Given the description of an element on the screen output the (x, y) to click on. 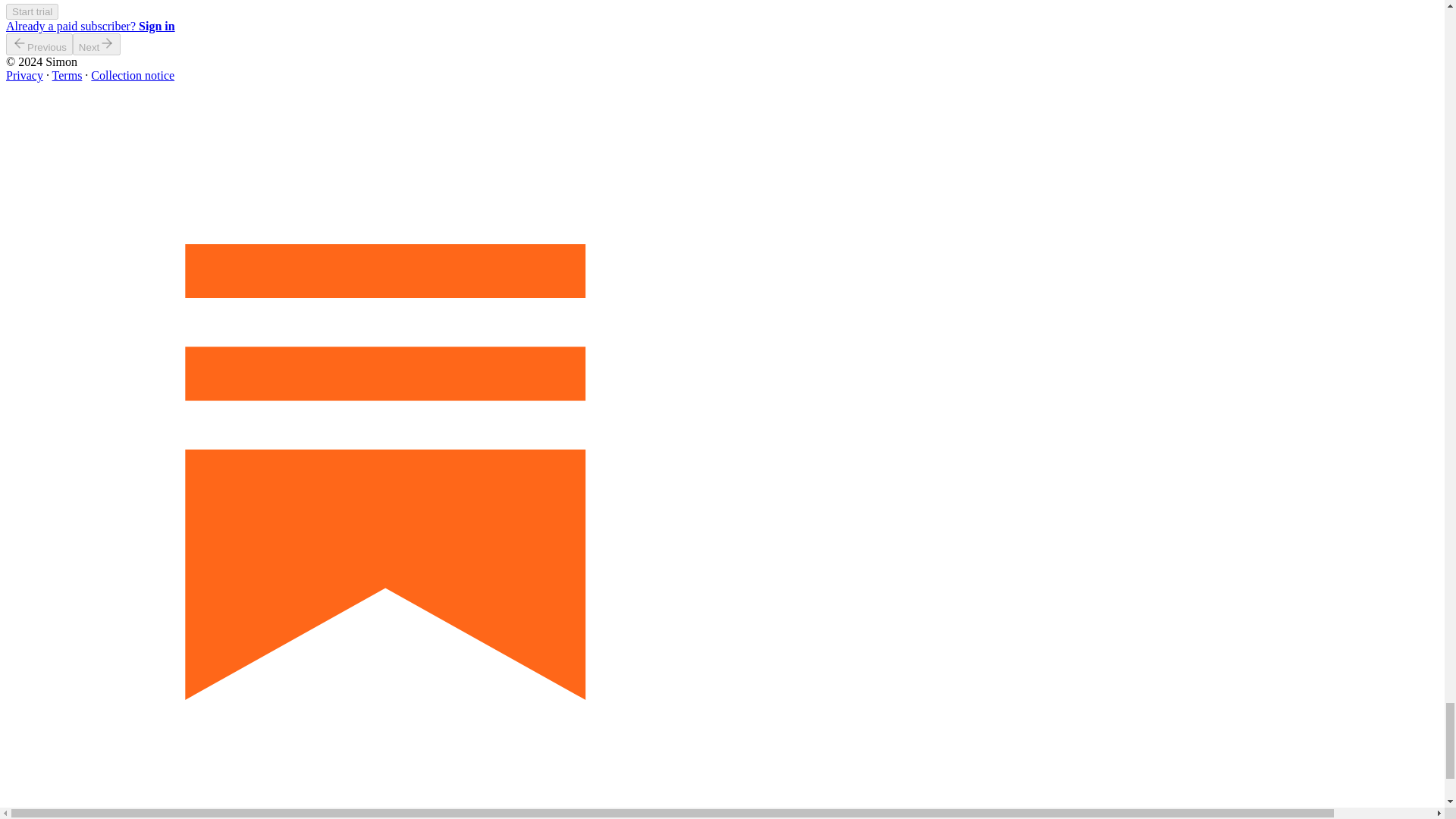
Start trial (31, 11)
Start trial (31, 10)
Already a paid subscriber? Sign in (89, 25)
